Given the description of an element on the screen output the (x, y) to click on. 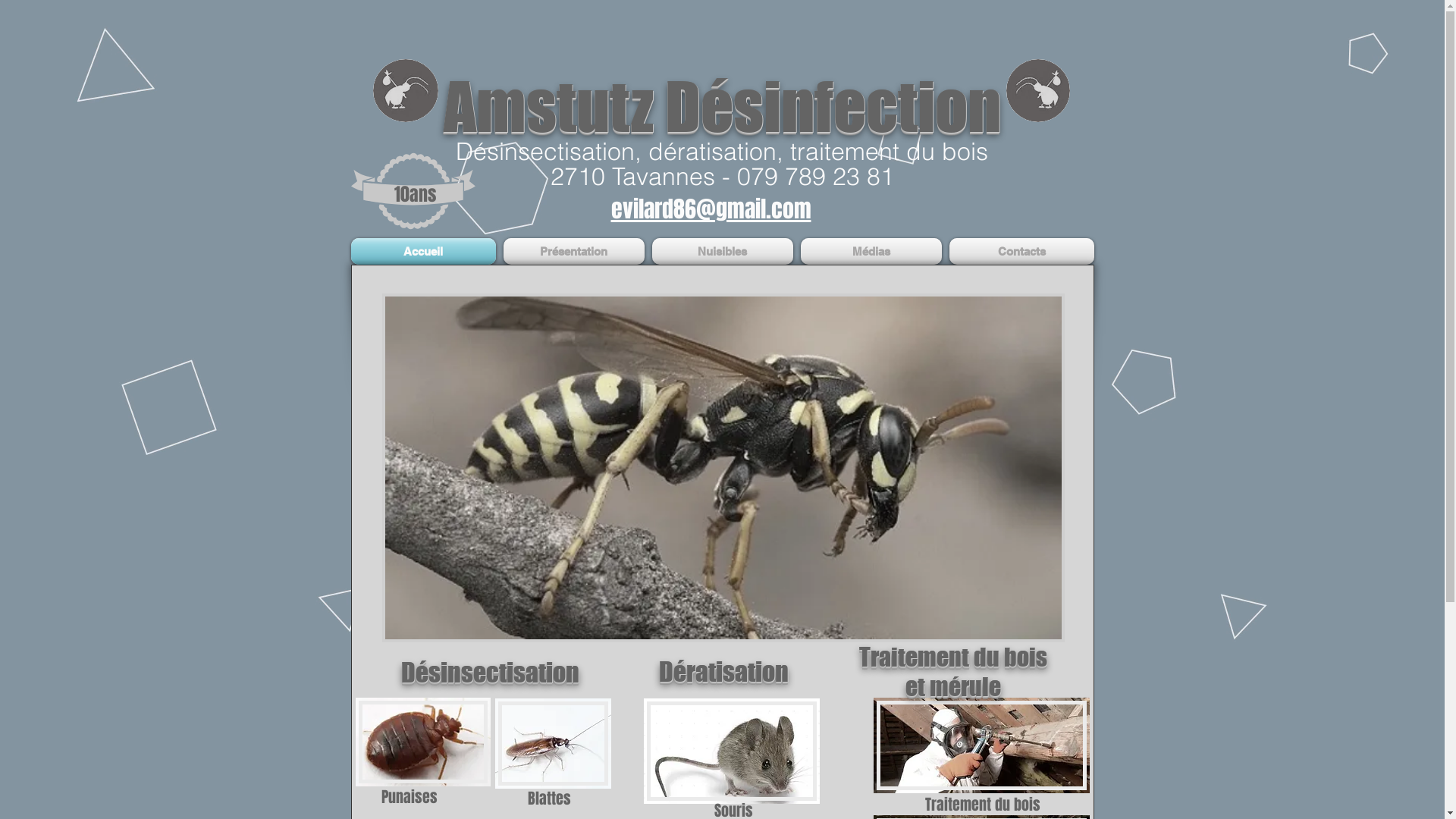
evilard86@gmail.com Element type: text (711, 208)
Traitement du bois Element type: text (952, 656)
Contacts Element type: text (1018, 251)
Accueil Element type: text (424, 251)
Nuisibles Element type: text (721, 251)
